Given the description of an element on the screen output the (x, y) to click on. 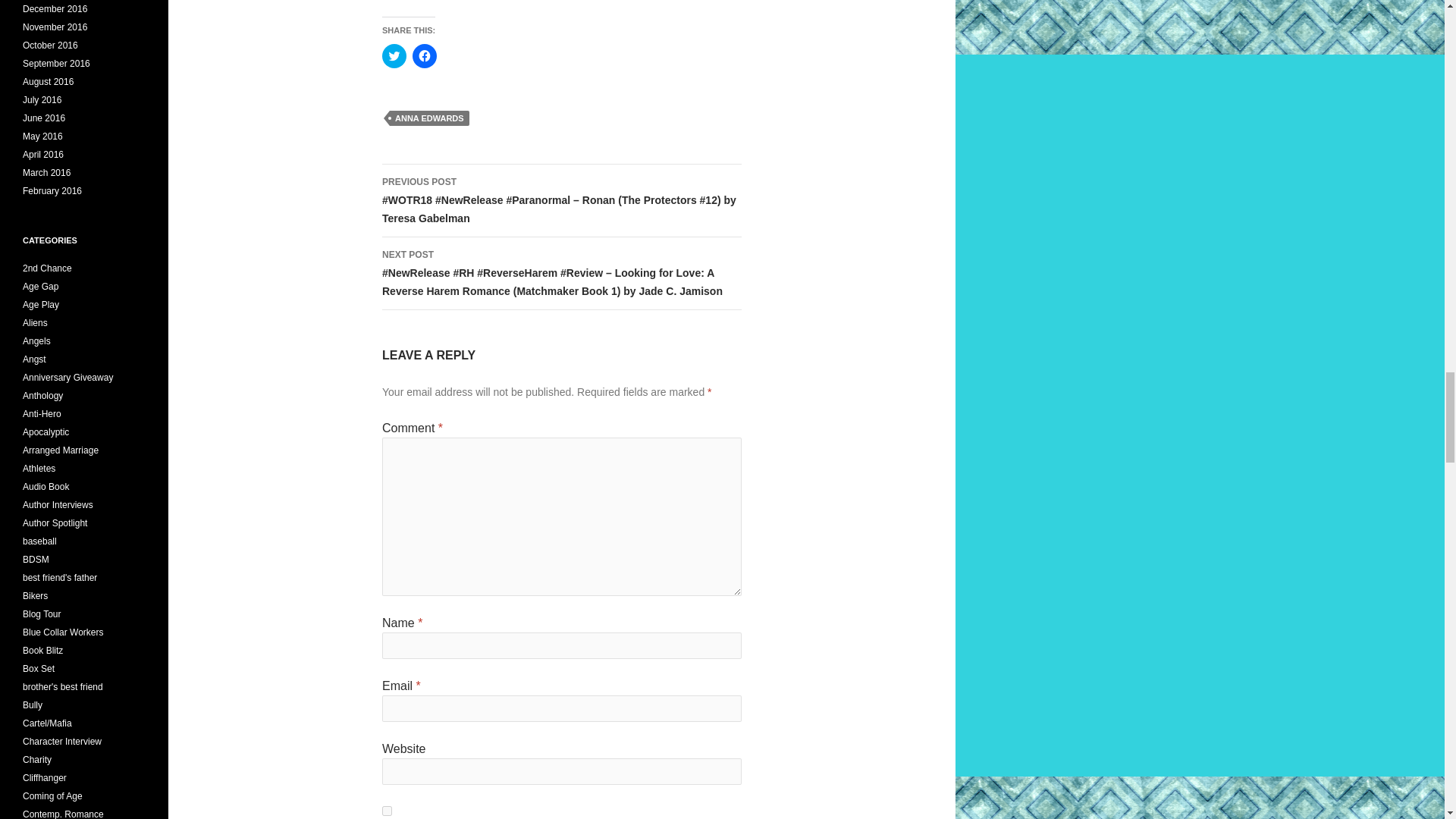
Click to share on Twitter (393, 55)
Click to share on Facebook (424, 55)
yes (386, 810)
ANNA EDWARDS (429, 118)
